Given the description of an element on the screen output the (x, y) to click on. 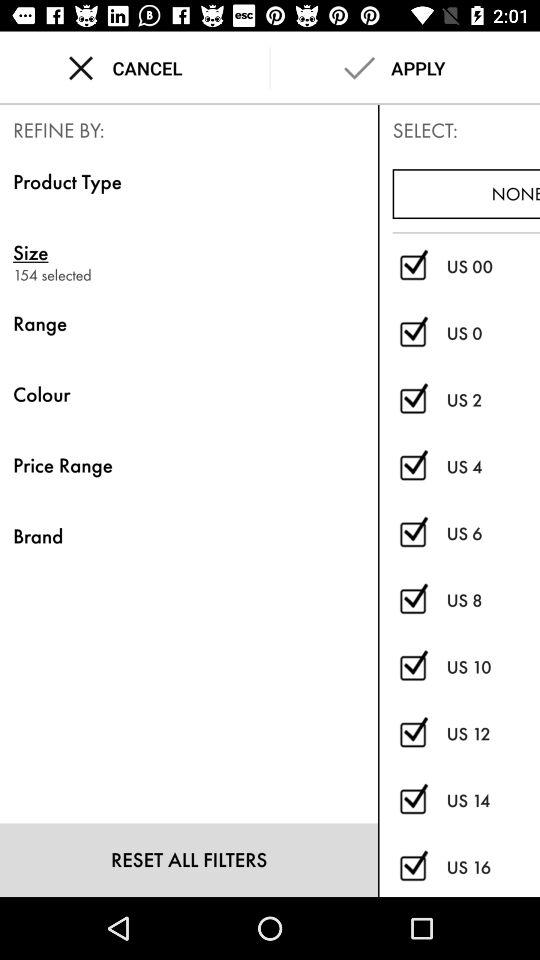
open the icon below the us 8 item (493, 667)
